Given the description of an element on the screen output the (x, y) to click on. 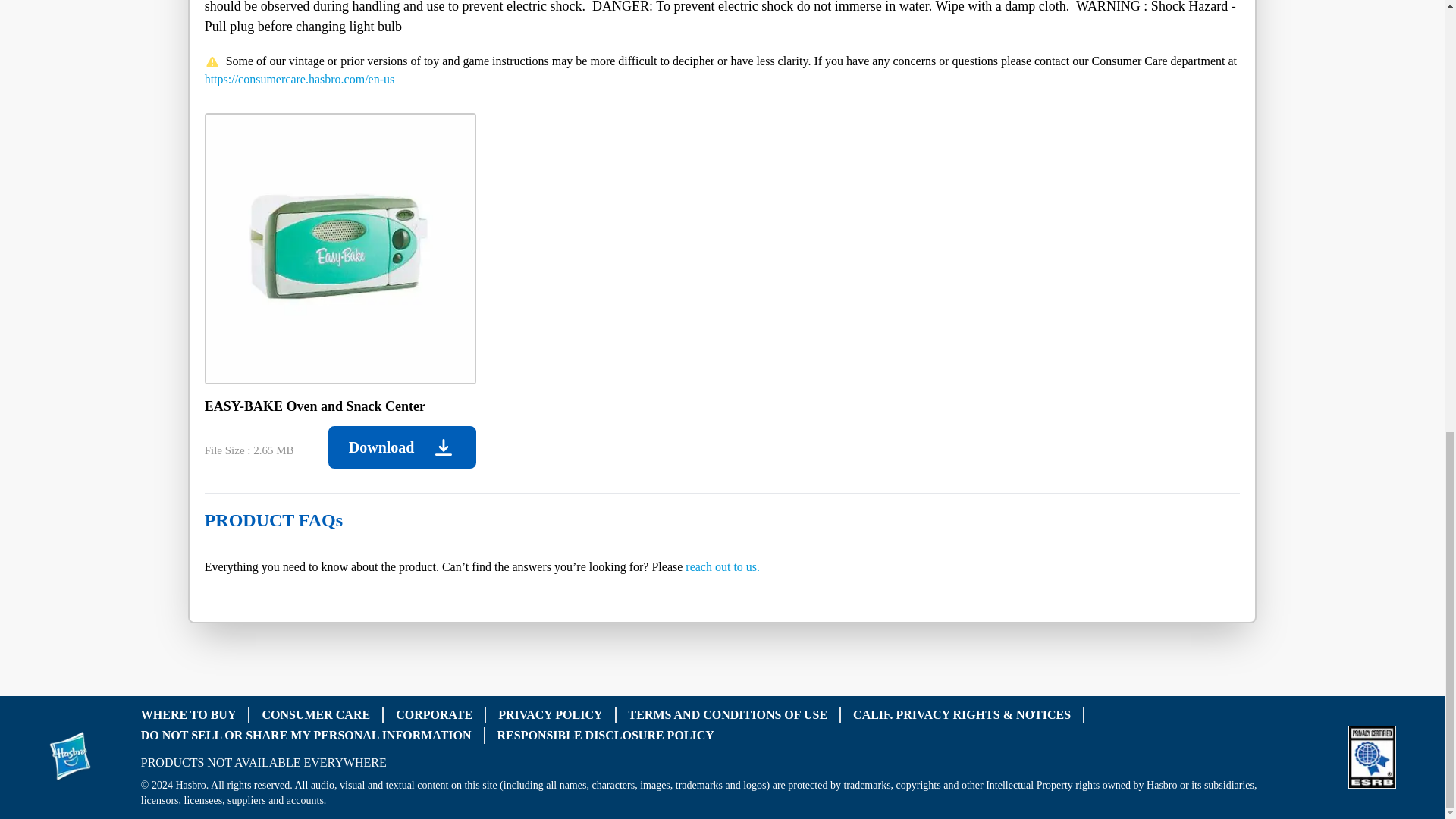
RESPONSIBLE DISCLOSURE POLICY (605, 734)
PRIVACY POLICY (549, 714)
CORPORATE (433, 714)
WHERE TO BUY (188, 714)
reach out to us. (722, 566)
DO NOT SELL OR SHARE MY PERSONAL INFORMATION (306, 734)
CONSUMER CARE (315, 714)
Download (402, 446)
TERMS AND CONDITIONS OF USE (728, 714)
